Given the description of an element on the screen output the (x, y) to click on. 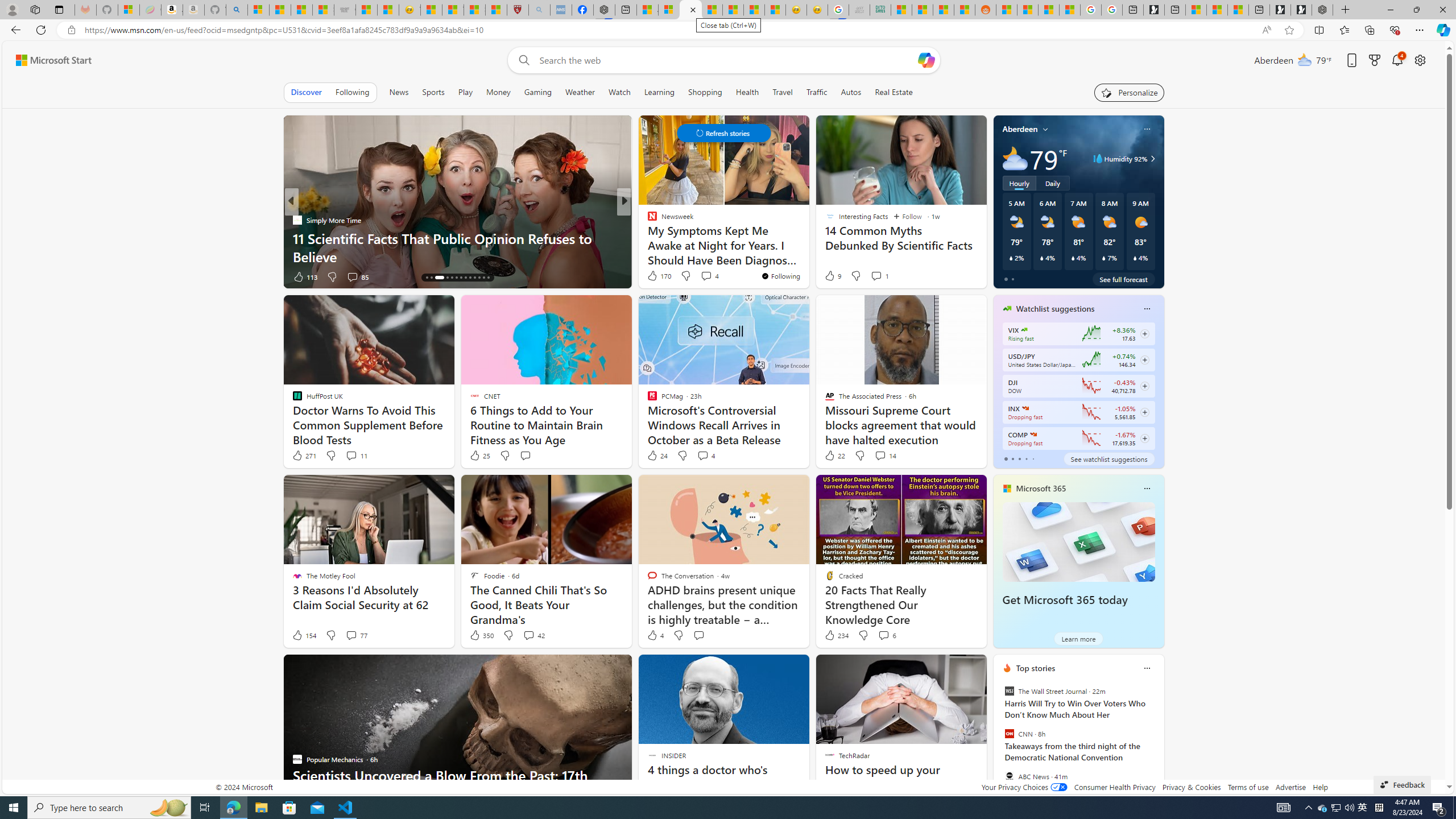
AutomationID: tab-20 (460, 277)
Aberdeen (1019, 128)
View comments 85 Comment (357, 276)
View comments 18 Comment (707, 276)
Sports (432, 92)
Real Estate (893, 92)
My location (1045, 128)
12 Popular Science Lies that Must be Corrected (496, 9)
